Given the description of an element on the screen output the (x, y) to click on. 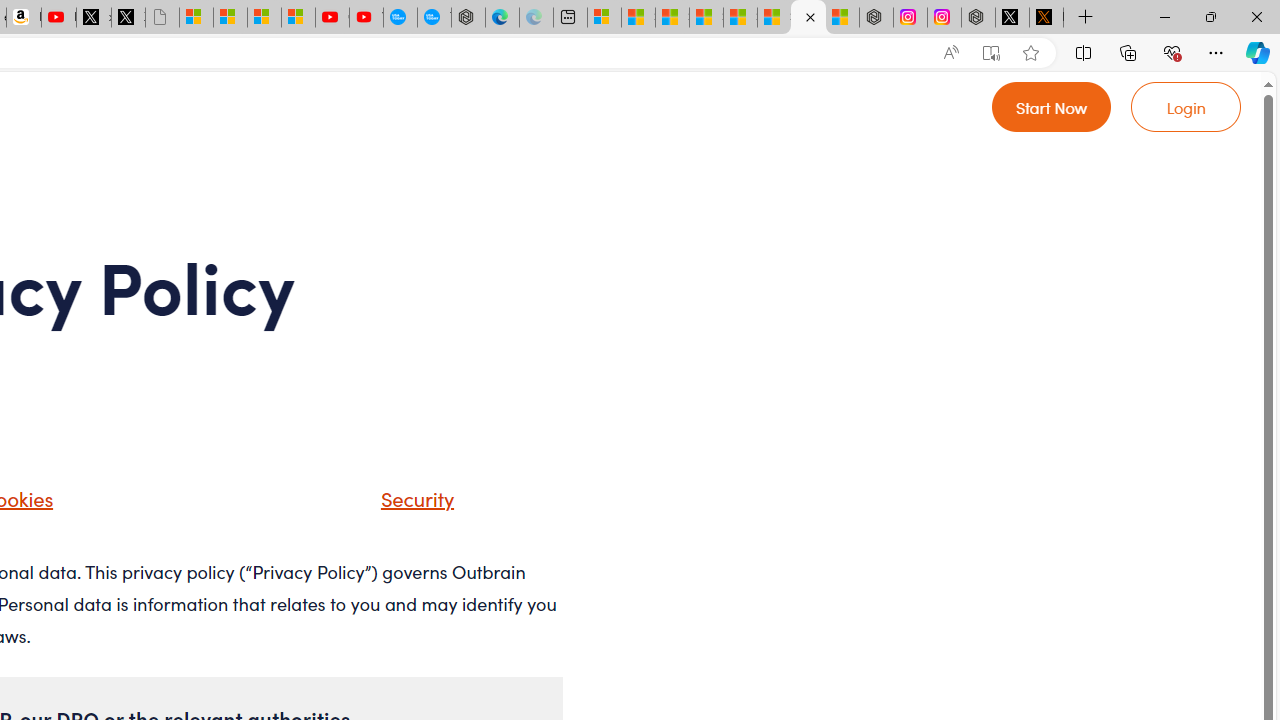
Nordace (@NordaceOfficial) / X (1012, 17)
Shanghai, China hourly forecast | Microsoft Weather (671, 17)
Go to login (1186, 106)
